Given the description of an element on the screen output the (x, y) to click on. 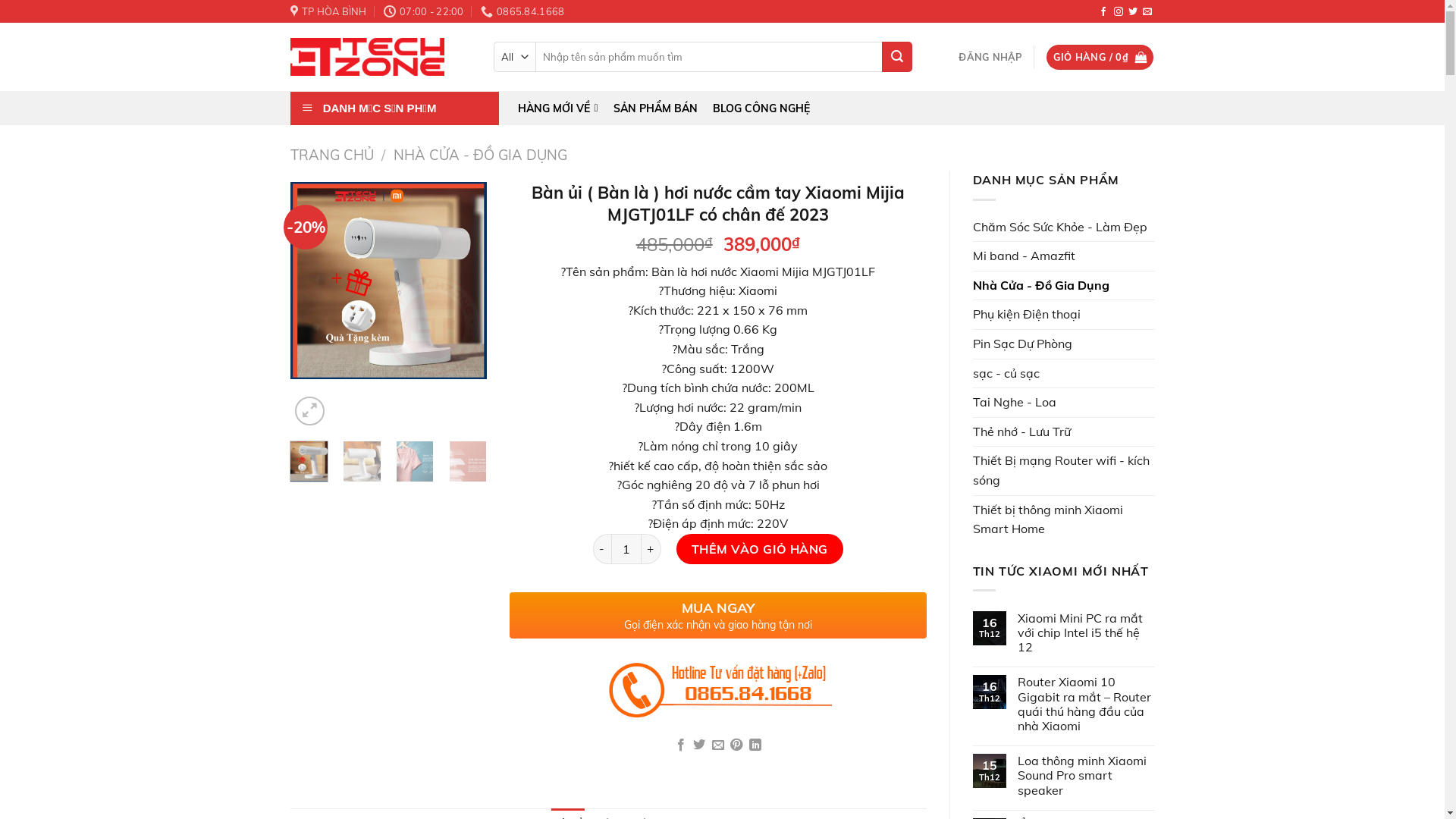
Zoom Element type: hover (309, 410)
Share on LinkedIn Element type: hover (755, 745)
ban-la-hoi-nuoc-xiaomi-mijia-MJGTJ01LF-co-chan-de Element type: hover (387, 280)
ban-la-hoi-nuoc-xiaomi-mijia-su-dung-duoc-voi-nhieu-loai-vai Element type: hover (1175, 305)
Follow on Facebook Element type: hover (1102, 11)
07:00 - 22:00 Element type: text (423, 11)
Share on Twitter Element type: hover (699, 745)
ban-la-hoi-nuoc-xiaomi Element type: hover (585, 252)
Follow on Twitter Element type: hover (1132, 11)
SL Element type: hover (626, 548)
Email to a Friend Element type: hover (718, 745)
ban-la-hoi-nuoc-xiaomi-1200w Element type: hover (782, 244)
Send us an email Element type: hover (1146, 11)
Share on Facebook Element type: hover (680, 745)
0865.84.1668 Element type: text (522, 11)
Tai Nghe - Loa Element type: text (1063, 402)
Follow on Instagram Element type: hover (1117, 11)
Pin on Pinterest Element type: hover (736, 745)
ban-la-hoi-nuoc-xiaomi-diet-khuan Element type: hover (978, 233)
Skip to content Element type: text (0, 0)
Mi band - Amazfit Element type: text (1063, 255)
